Given the description of an element on the screen output the (x, y) to click on. 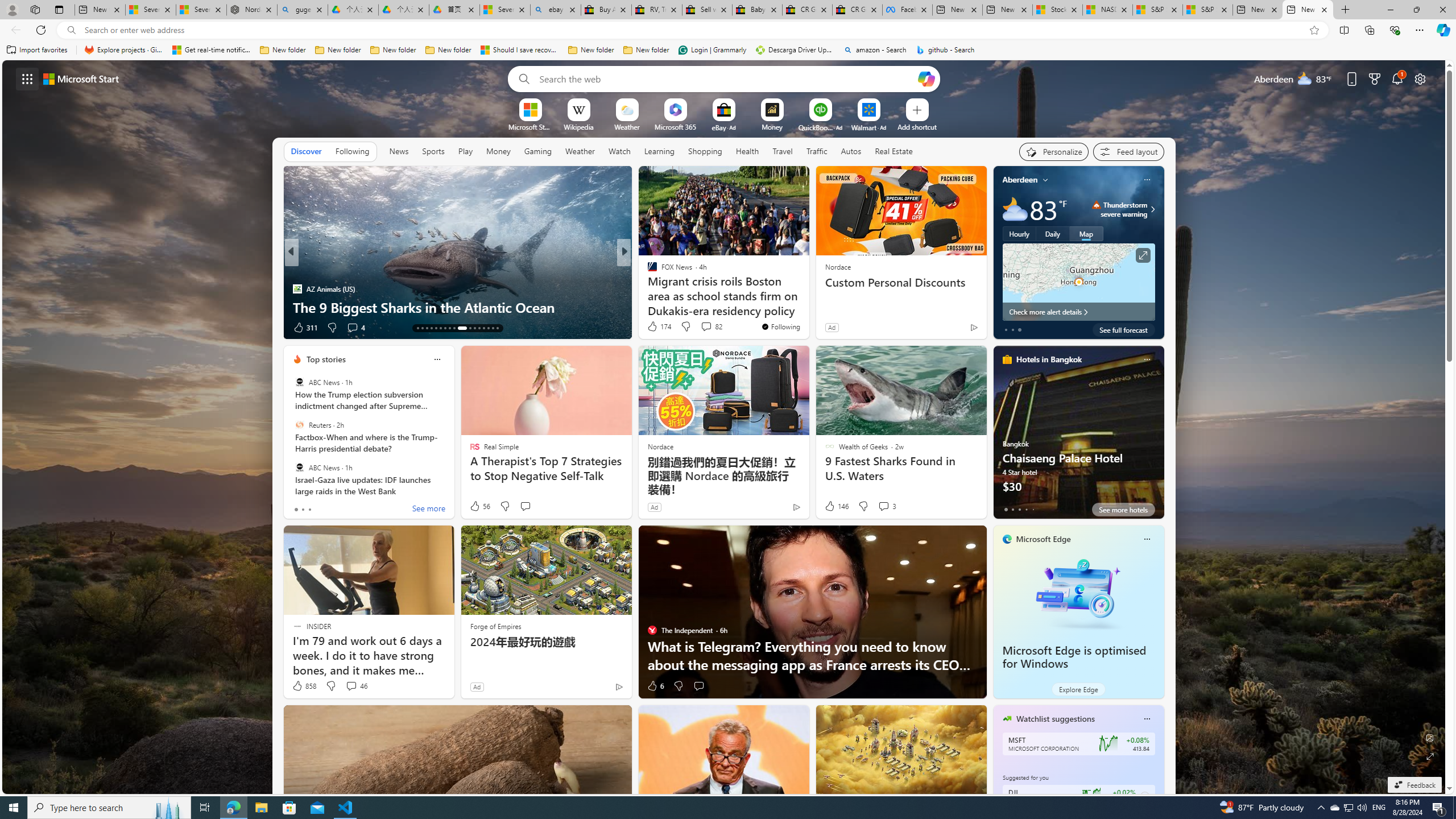
146 Like (835, 505)
View comments 82 Comment (710, 326)
AutomationID: tab-27 (488, 328)
Favorites bar (728, 49)
311 Like (304, 327)
Money (498, 151)
Watch (619, 151)
AutomationID: backgroundImagePicture (723, 426)
AutomationID: tab-17 (435, 328)
tab-4 (1032, 509)
See full forecast (1123, 329)
tab-1 (1012, 509)
